Given the description of an element on the screen output the (x, y) to click on. 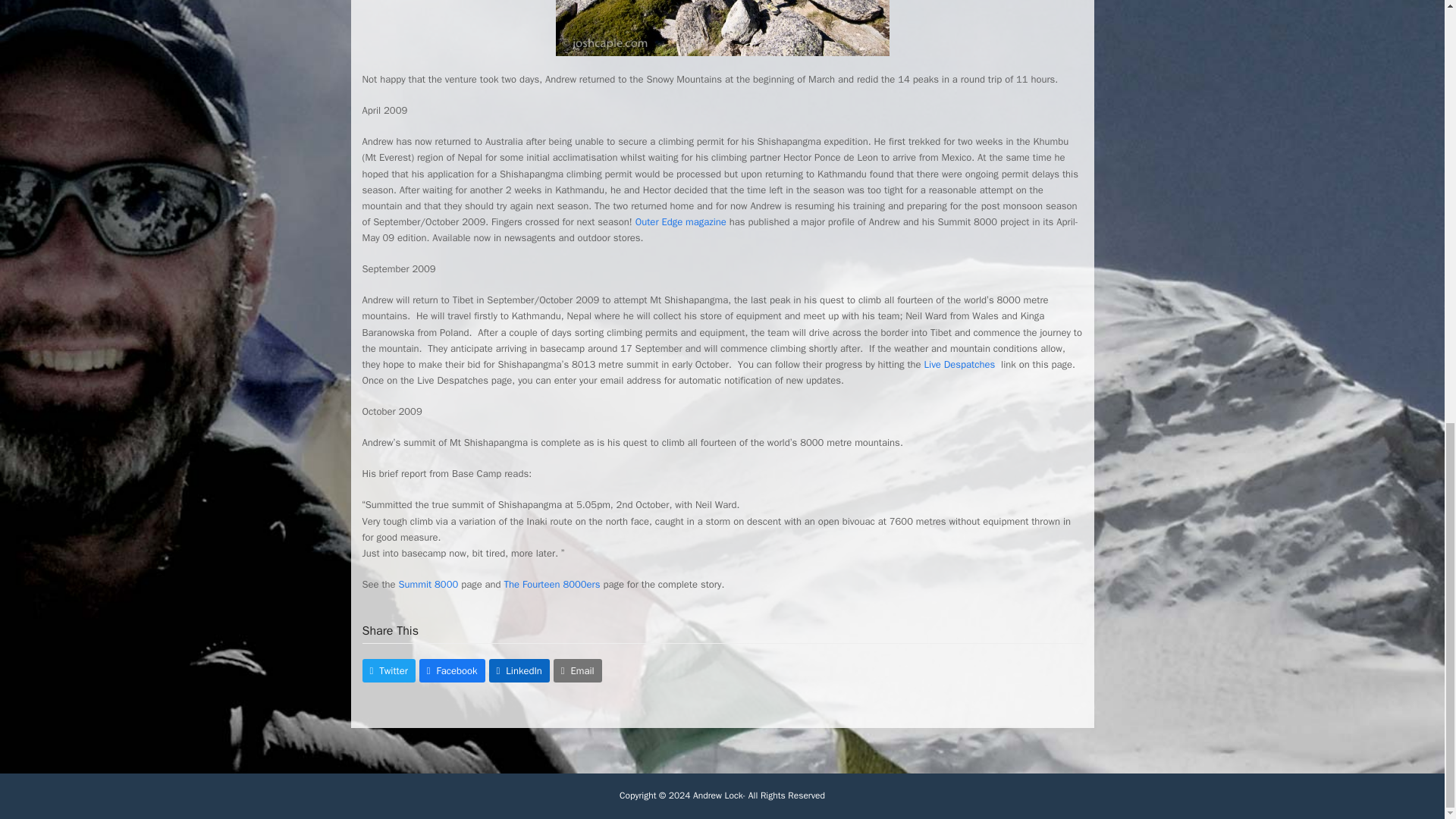
The Fourteen 8000ers (551, 584)
LinkedIn (519, 670)
Facebook (451, 670)
 Summit 8000 (427, 584)
Outer Edge magazine  (681, 221)
Email (577, 670)
Live Despatches  (961, 364)
Twitter (388, 670)
